Given the description of an element on the screen output the (x, y) to click on. 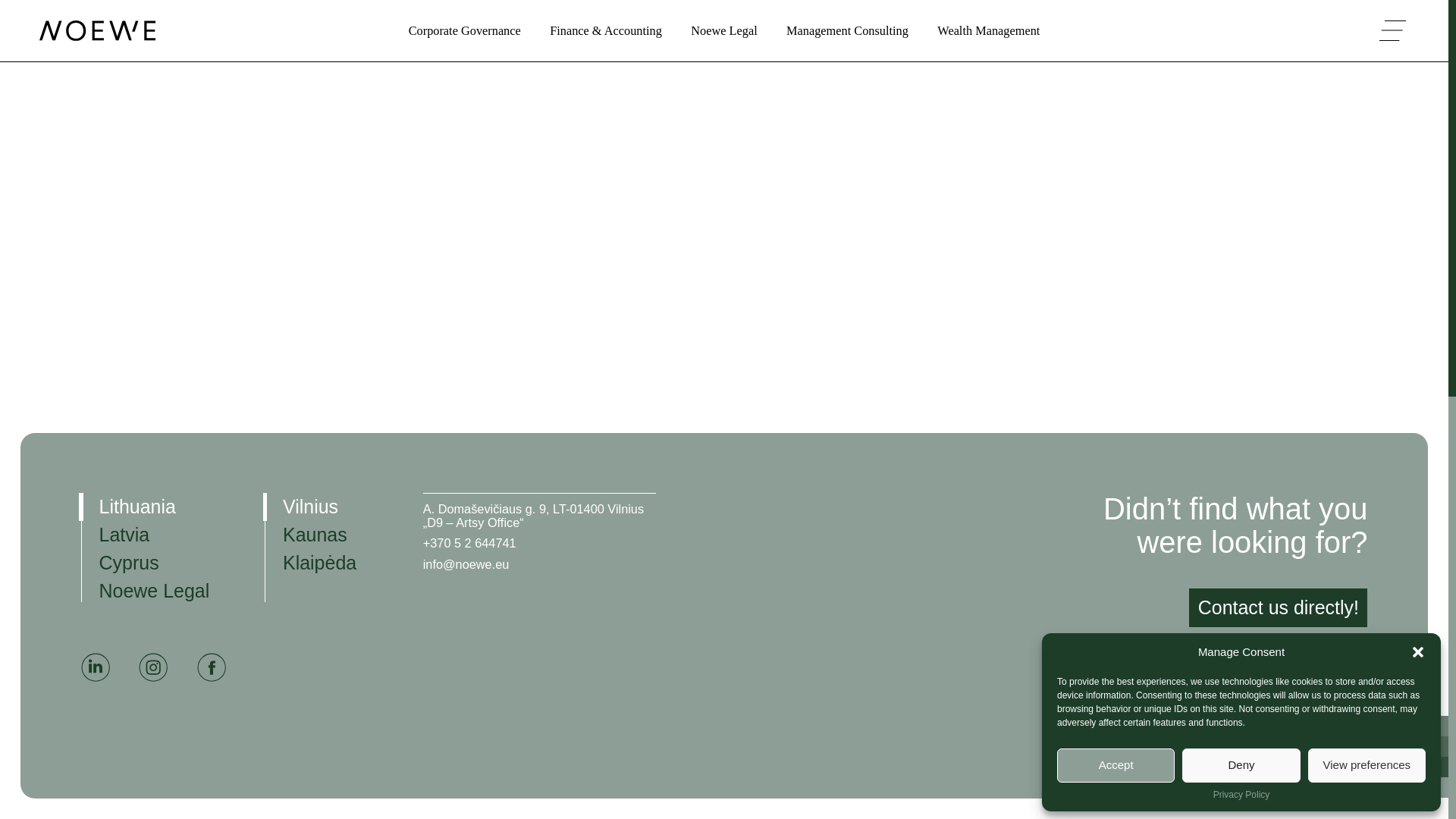
Accept (1115, 6)
Deny (1241, 6)
Privacy Policy (1240, 25)
View preferences (1366, 6)
